Given the description of an element on the screen output the (x, y) to click on. 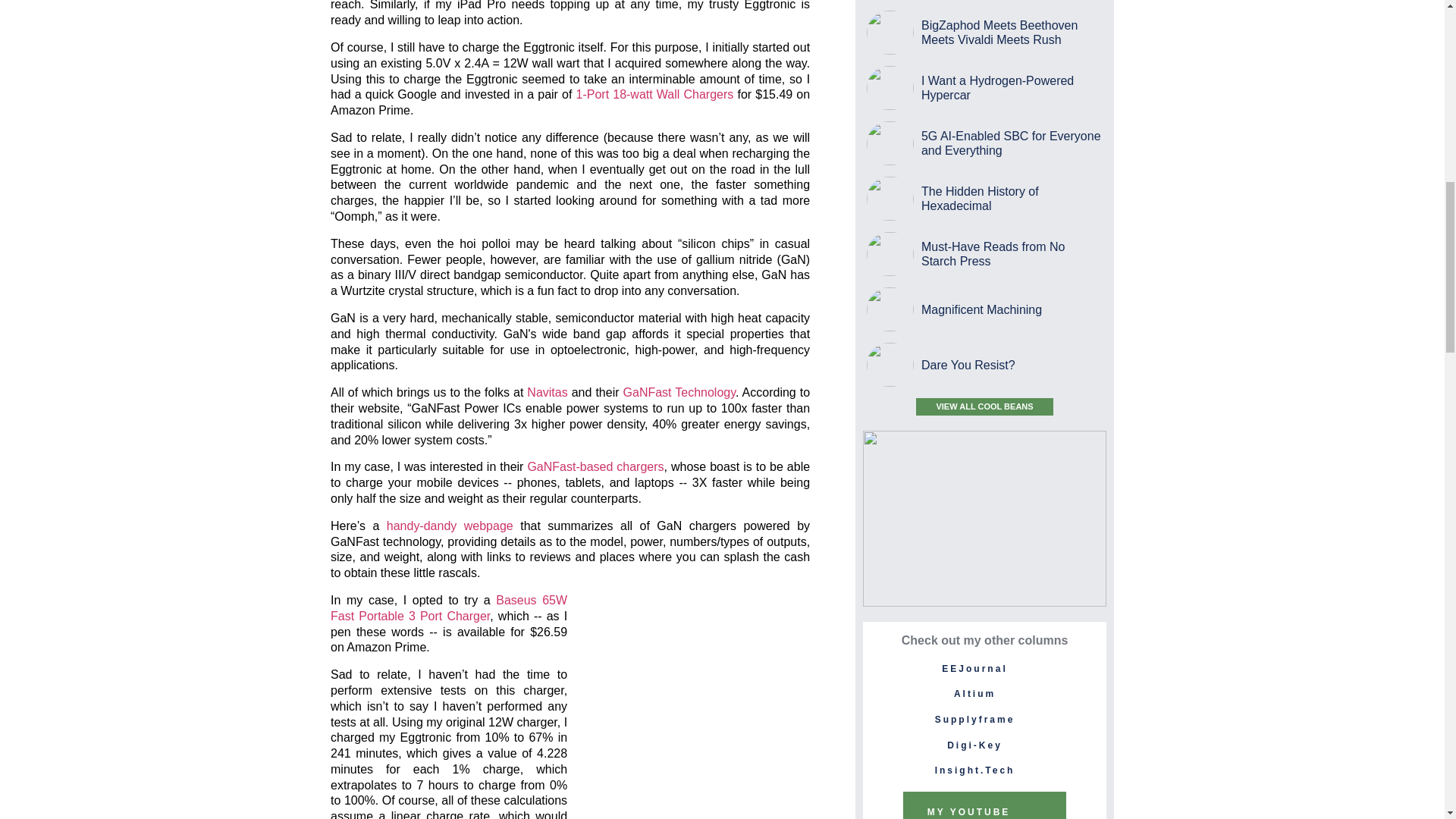
Navitas (547, 391)
Baseus 65W Fast Portable 3 Port Charger (448, 607)
GaNFast Technology (679, 391)
handy-dandy webpage (450, 525)
1-Port 18-watt Wall Chargers (654, 93)
GaNFast-based chargers (595, 466)
